Given the description of an element on the screen output the (x, y) to click on. 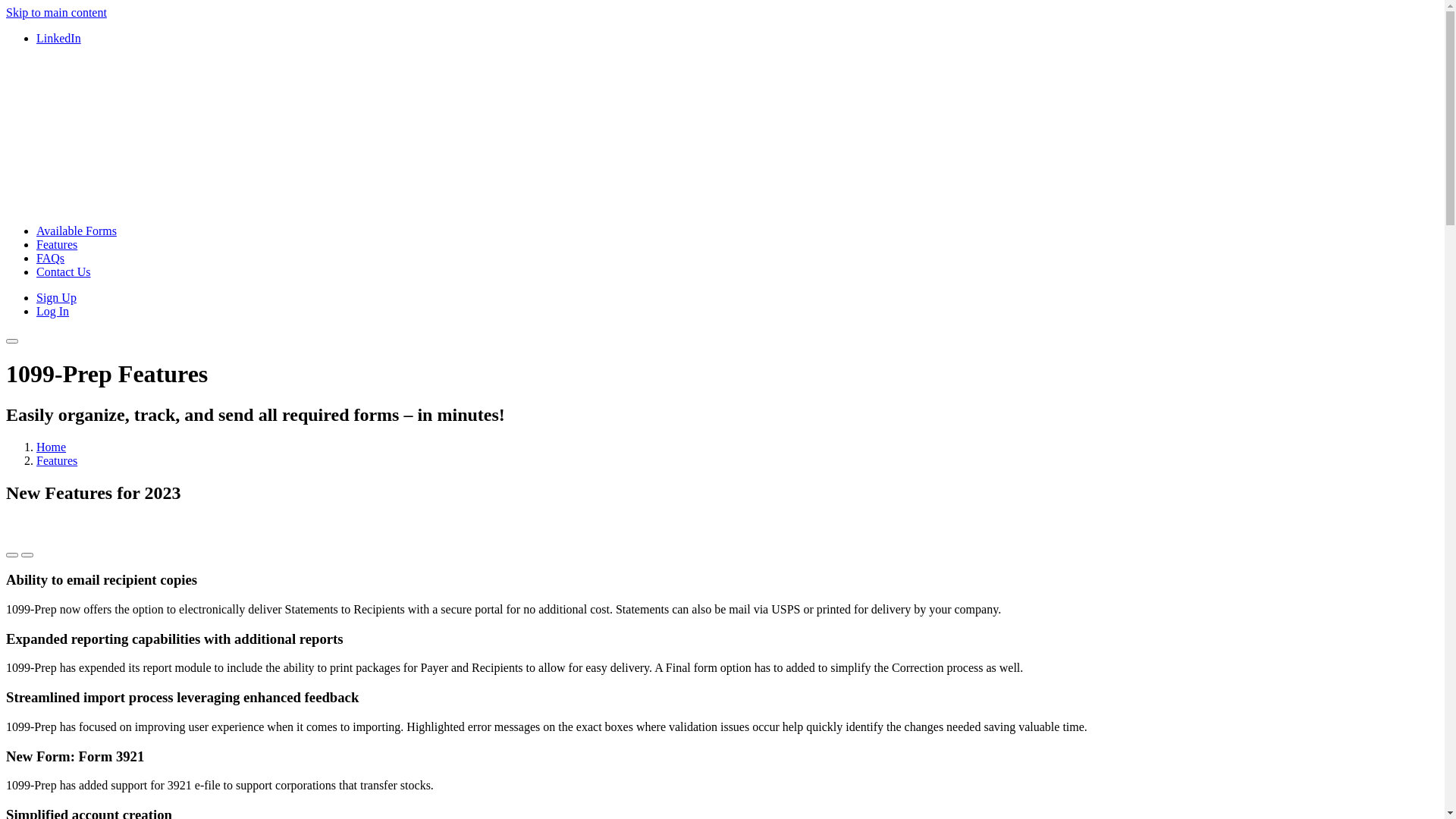
FAQs Element type: text (50, 257)
Home Element type: text (50, 446)
Available Forms Element type: text (76, 230)
LinkedIn Element type: text (58, 37)
Skip to main content Element type: text (56, 12)
Features Element type: text (56, 244)
Features Element type: text (56, 460)
Log In Element type: text (52, 310)
Sign Up Element type: text (56, 297)
Contact Us Element type: text (63, 271)
